Given the description of an element on the screen output the (x, y) to click on. 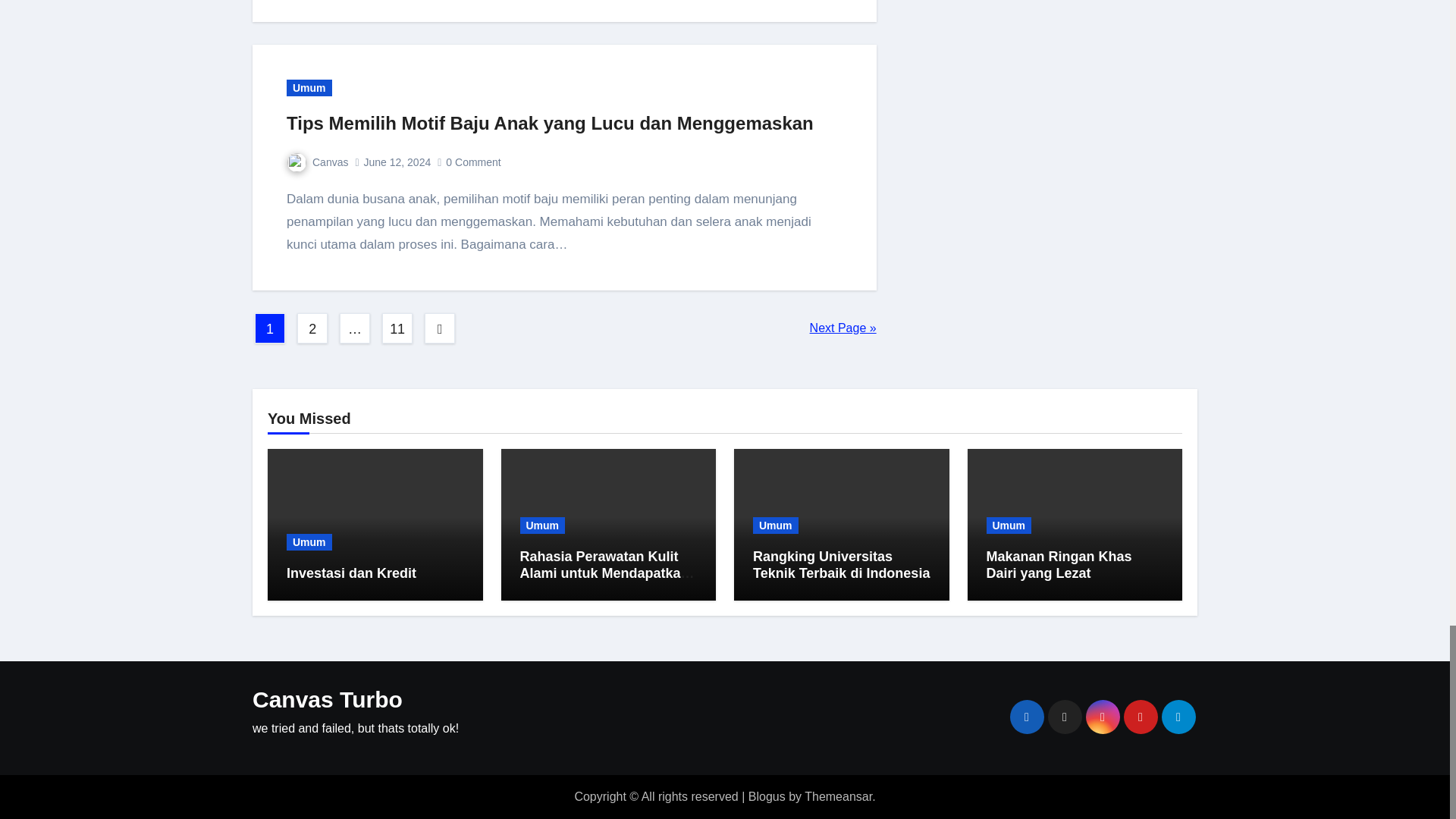
Permalink to: Makanan Ringan Khas Dairi yang Lezat (1058, 564)
Permalink to: Investasi dan Kredit (351, 572)
